Given the description of an element on the screen output the (x, y) to click on. 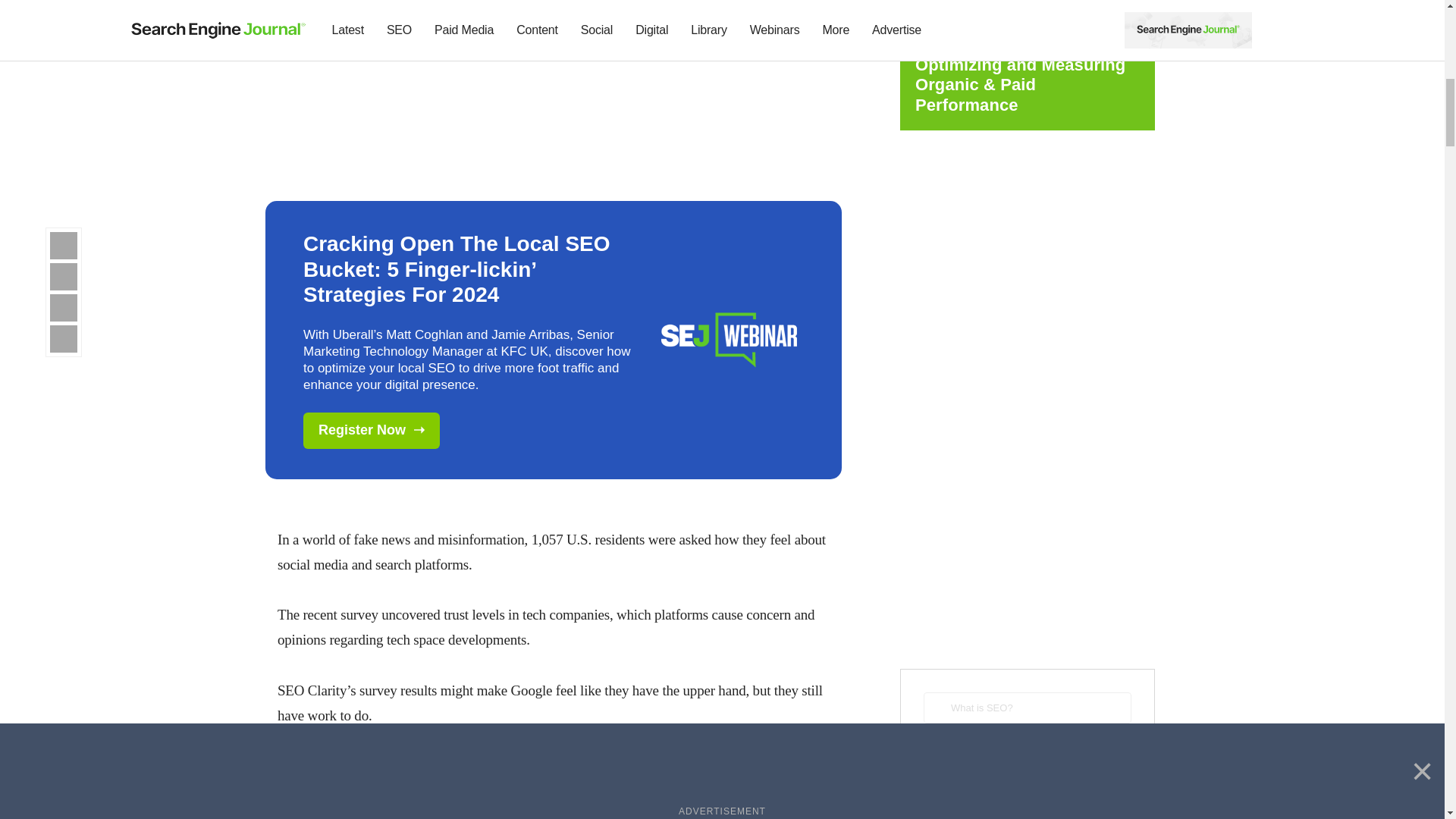
SEARCH (1027, 753)
SEARCH (1027, 753)
